Given the description of an element on the screen output the (x, y) to click on. 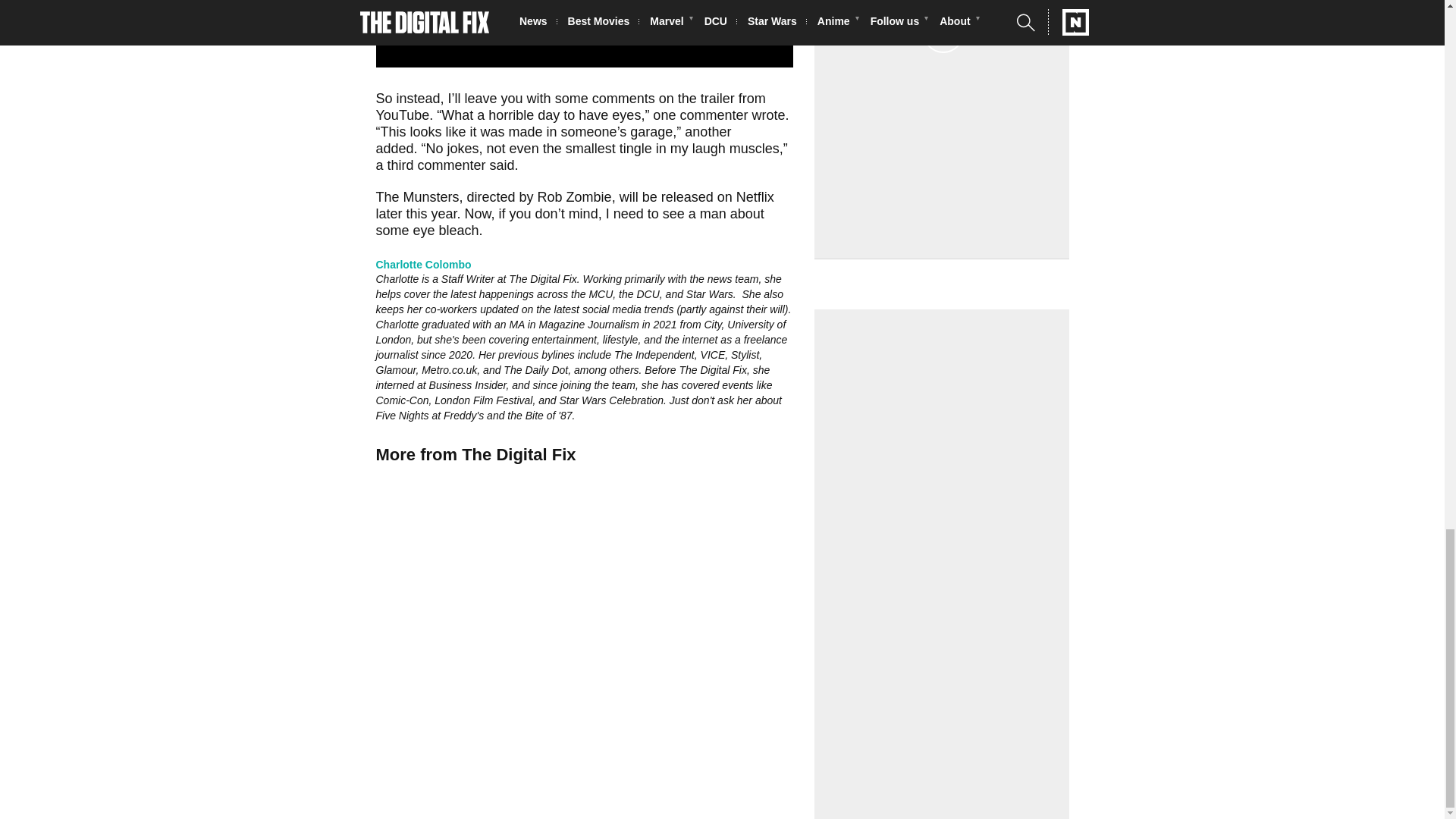
Charlotte Colombo (423, 264)
MCU (600, 294)
